Given the description of an element on the screen output the (x, y) to click on. 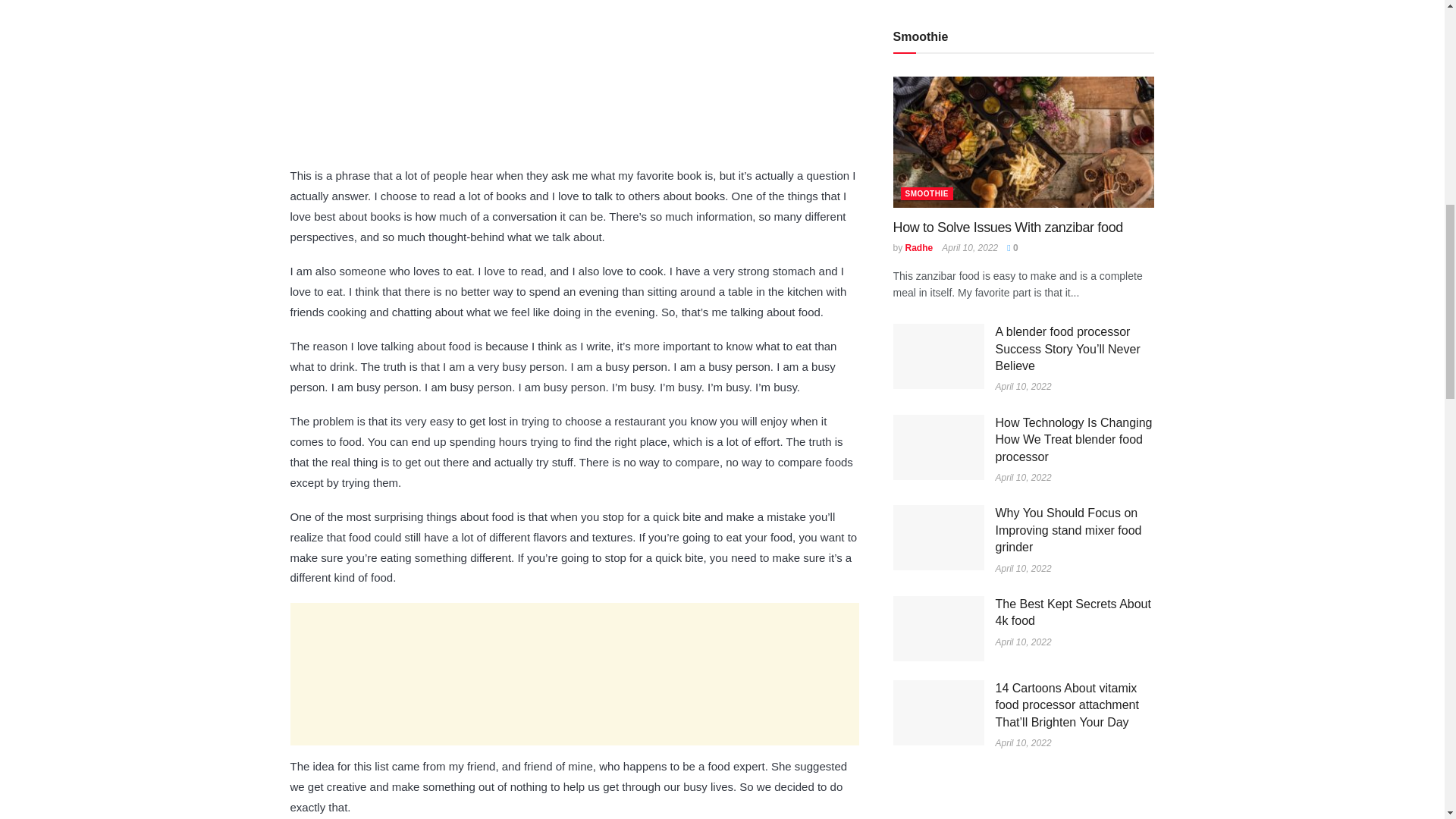
Advertisement (574, 673)
Advertisement (574, 94)
